Given the description of an element on the screen output the (x, y) to click on. 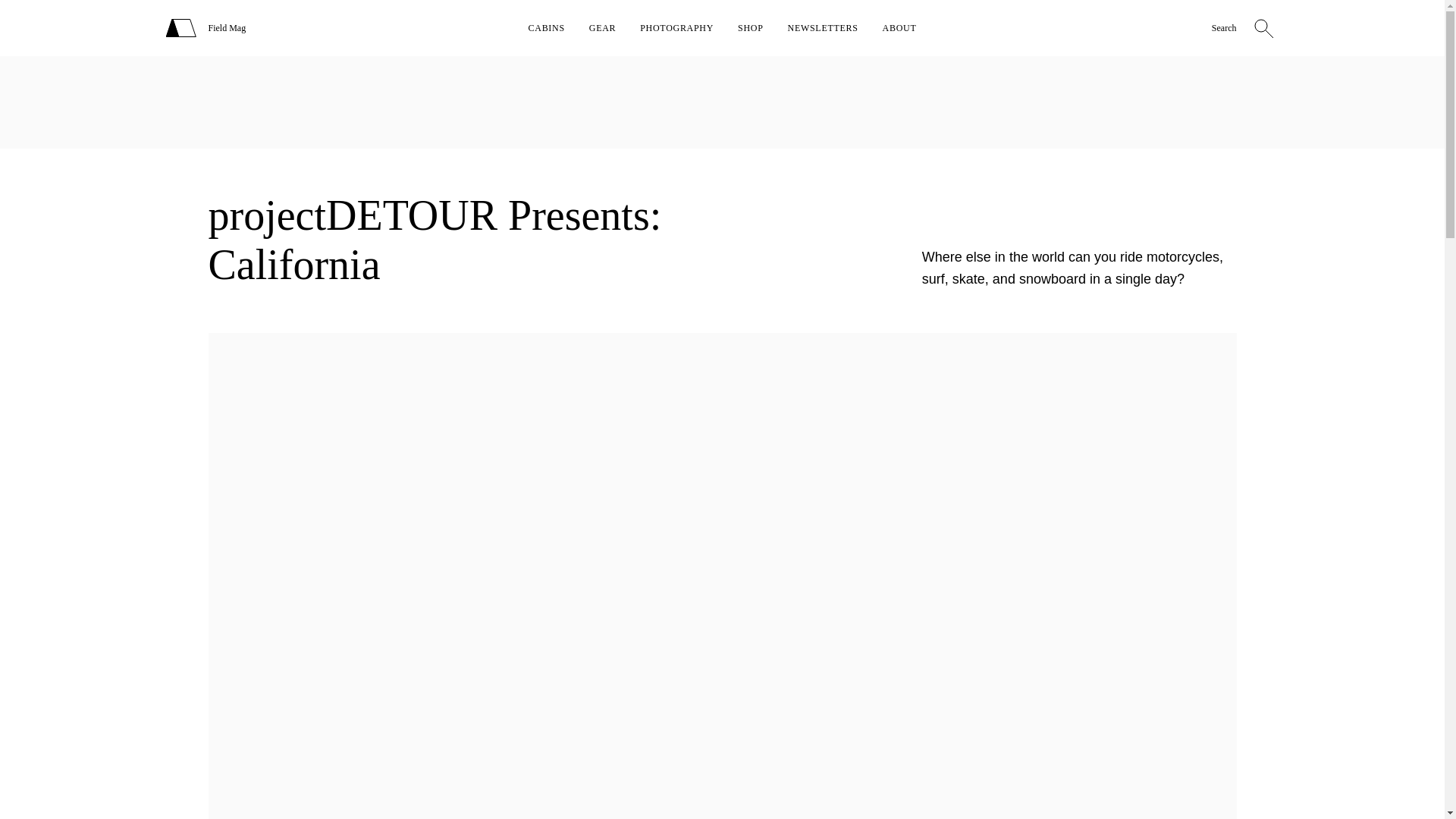
NEWSLETTERS (823, 28)
SHOP (750, 28)
Search (1223, 28)
CABINS (546, 28)
Field Mag (227, 28)
PHOTOGRAPHY (676, 28)
GEAR (602, 28)
ABOUT (899, 28)
3rd party ad content (721, 101)
